Given the description of an element on the screen output the (x, y) to click on. 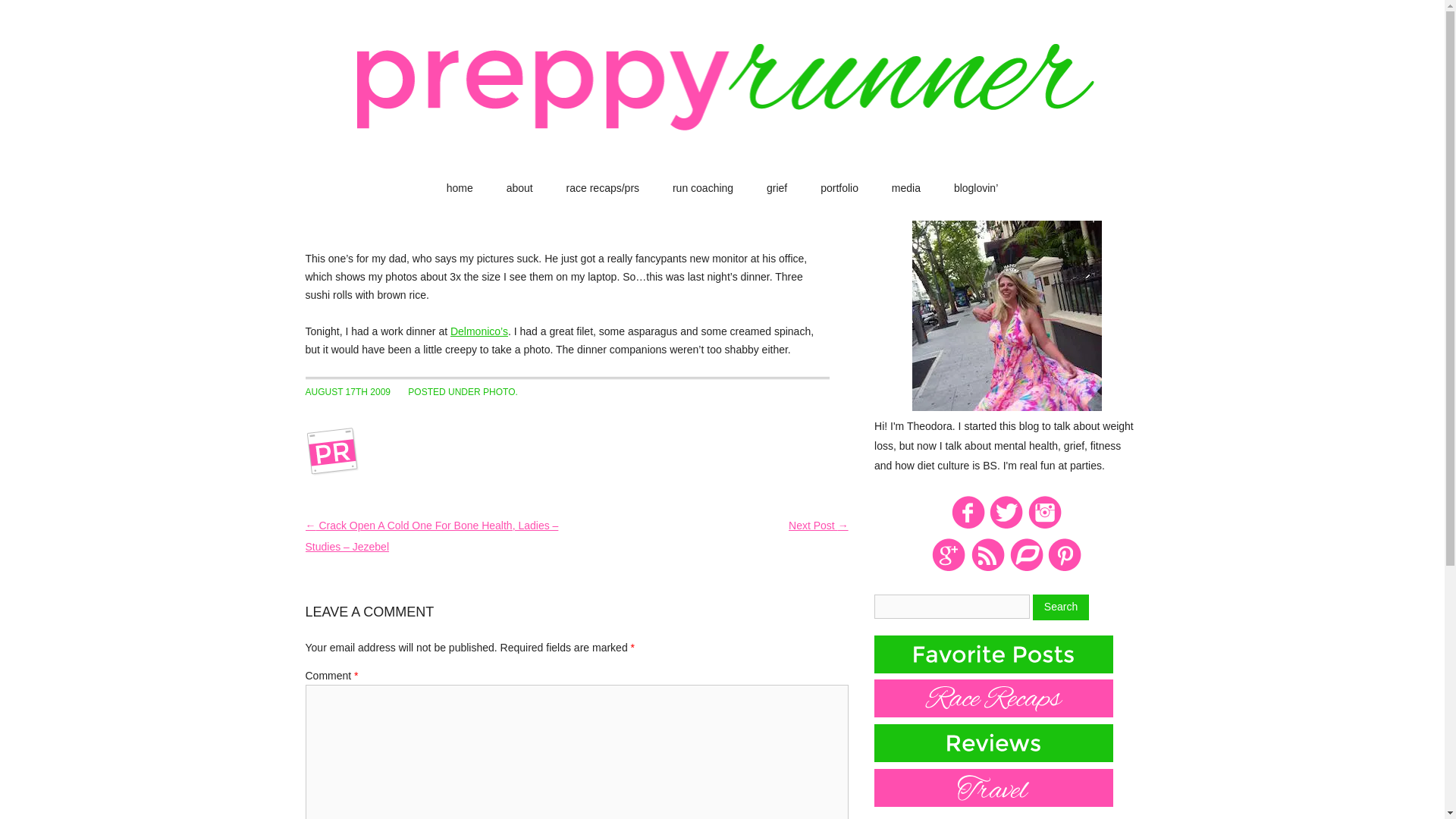
skip to content (756, 185)
portfolio (840, 188)
run coaching (702, 188)
Search (1060, 606)
Twitter (1006, 526)
PHOTO (499, 391)
Running Training Log (1026, 568)
Instagram (1044, 526)
media (905, 188)
home (459, 188)
